Given the description of an element on the screen output the (x, y) to click on. 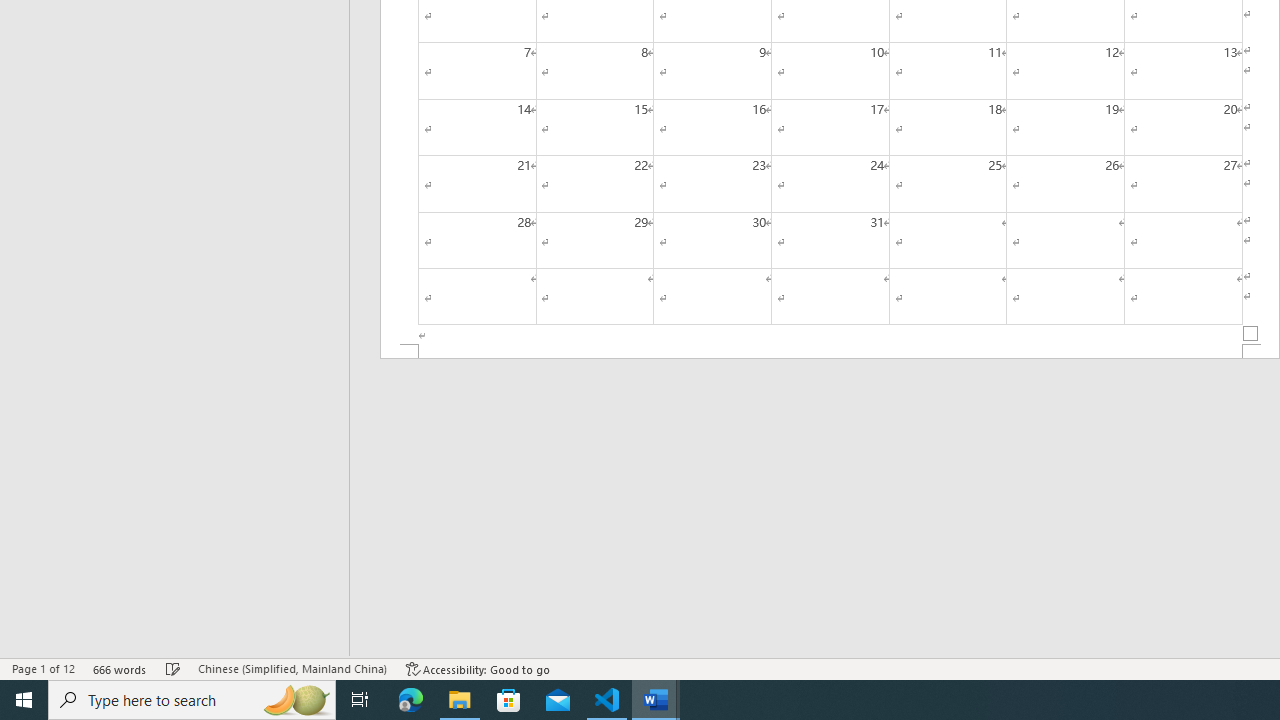
Page Number Page 1 of 12 (43, 668)
Word Count 666 words (119, 668)
Microsoft Edge (411, 699)
Word - 2 running windows (656, 699)
